Given the description of an element on the screen output the (x, y) to click on. 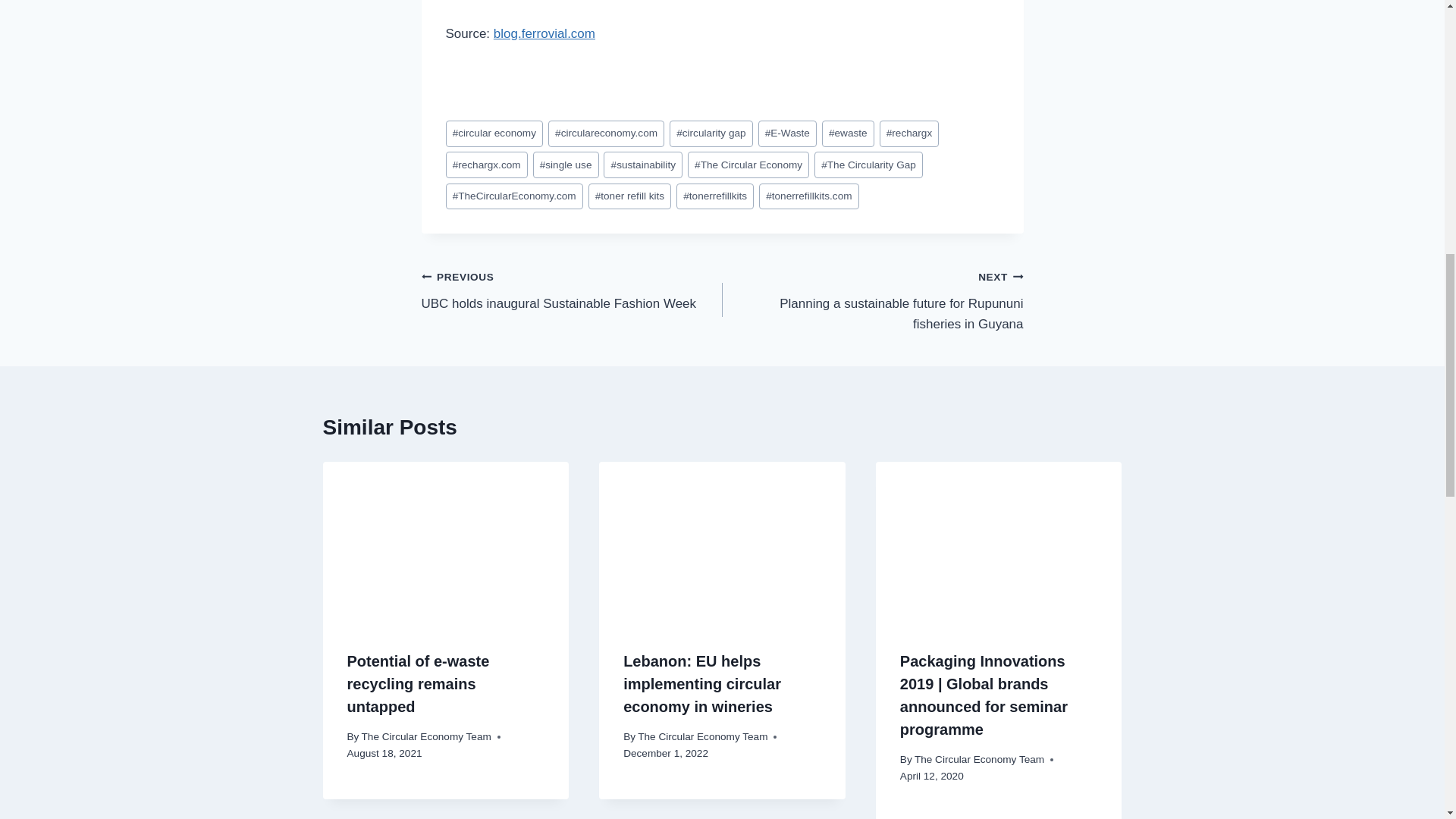
circulareconomy.com (605, 133)
The Circularity Gap (868, 164)
The Circular Economy (748, 164)
E-Waste (787, 133)
single use (572, 289)
sustainability (565, 164)
The Circular Economy Team (643, 164)
Lebanon: EU helps implementing circular economy in wineries (702, 736)
blog.ferrovial.com (701, 683)
